Given the description of an element on the screen output the (x, y) to click on. 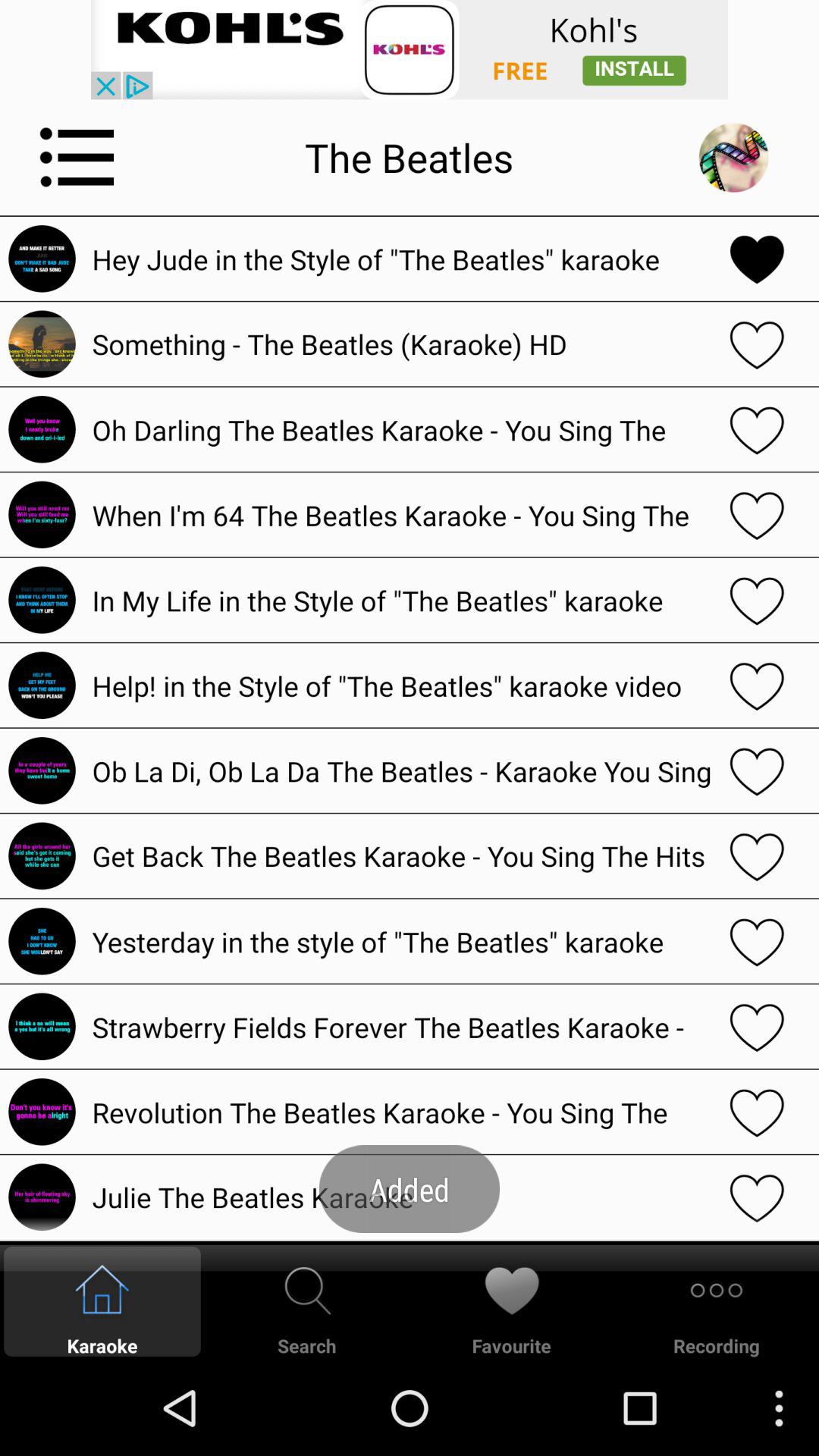
show the heart option (756, 1026)
